Given the description of an element on the screen output the (x, y) to click on. 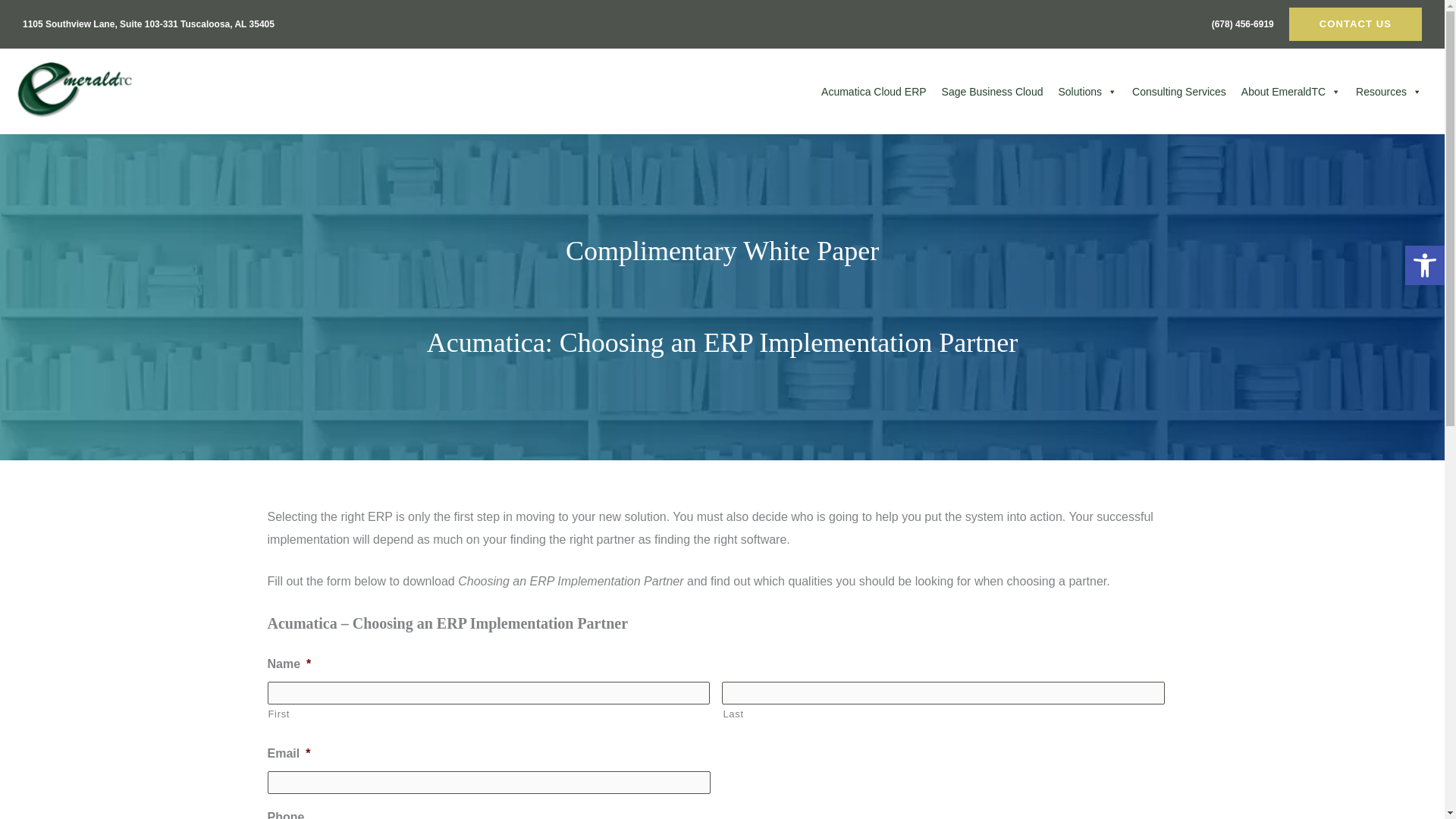
Consulting Services (1178, 91)
Acumatica Cloud ERP (873, 91)
Resources (1388, 91)
1105 Southview Lane, Suite 103-331 Tuscaloosa, AL 35405 (149, 23)
CONTACT US (1355, 23)
Accessibility Tools (1424, 265)
Sage Business Cloud (992, 91)
Accessibility Tools (1424, 265)
Solutions (1086, 91)
About EmeraldTC (1290, 91)
